Given the description of an element on the screen output the (x, y) to click on. 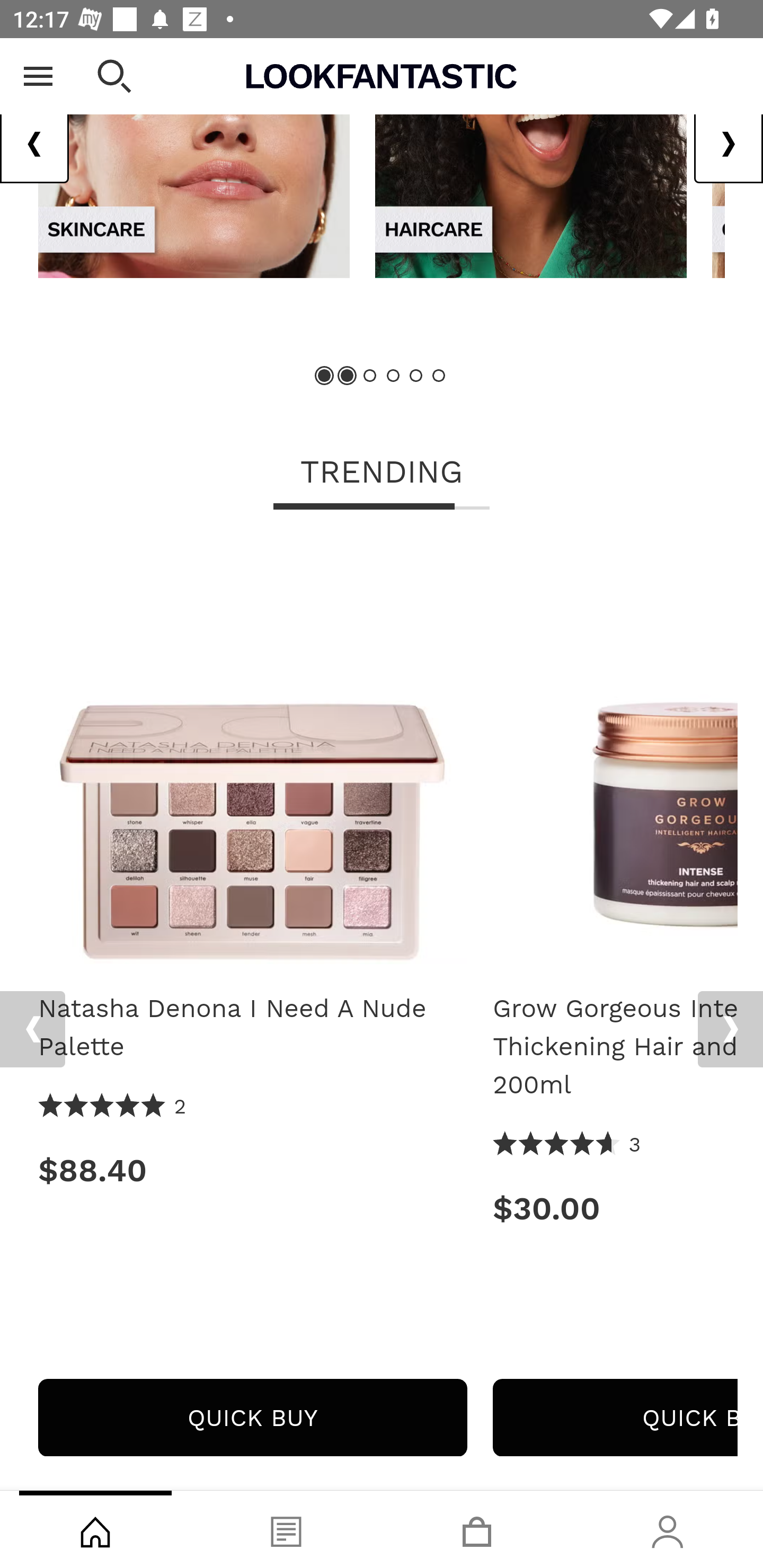
Previous (35, 144)
Next (727, 144)
Showing Slide 1 (Current Item) (324, 375)
Showing Slide 2 (Current Item) (347, 375)
Slide 3 (369, 375)
Slide 4 (393, 375)
Slide 5 (415, 375)
Slide 6 (437, 375)
TRENDING (381, 473)
Natasha Denona I Need A Nude Palette (252, 755)
Natasha Denona I Need A Nude Palette (252, 1026)
Previous (32, 1028)
Next (730, 1028)
5.0 Stars 2 Reviews (112, 1106)
4.67 Stars 3 Reviews (567, 1144)
Price: $88.40 (252, 1170)
Price: $30.00 (614, 1207)
QUICK BUY NATASHA DENONA I NEED A NUDE PALETTE (252, 1417)
Shop, tab, 1 of 4 (95, 1529)
Blog, tab, 2 of 4 (285, 1529)
Basket, tab, 3 of 4 (476, 1529)
Account, tab, 4 of 4 (667, 1529)
